Given the description of an element on the screen output the (x, y) to click on. 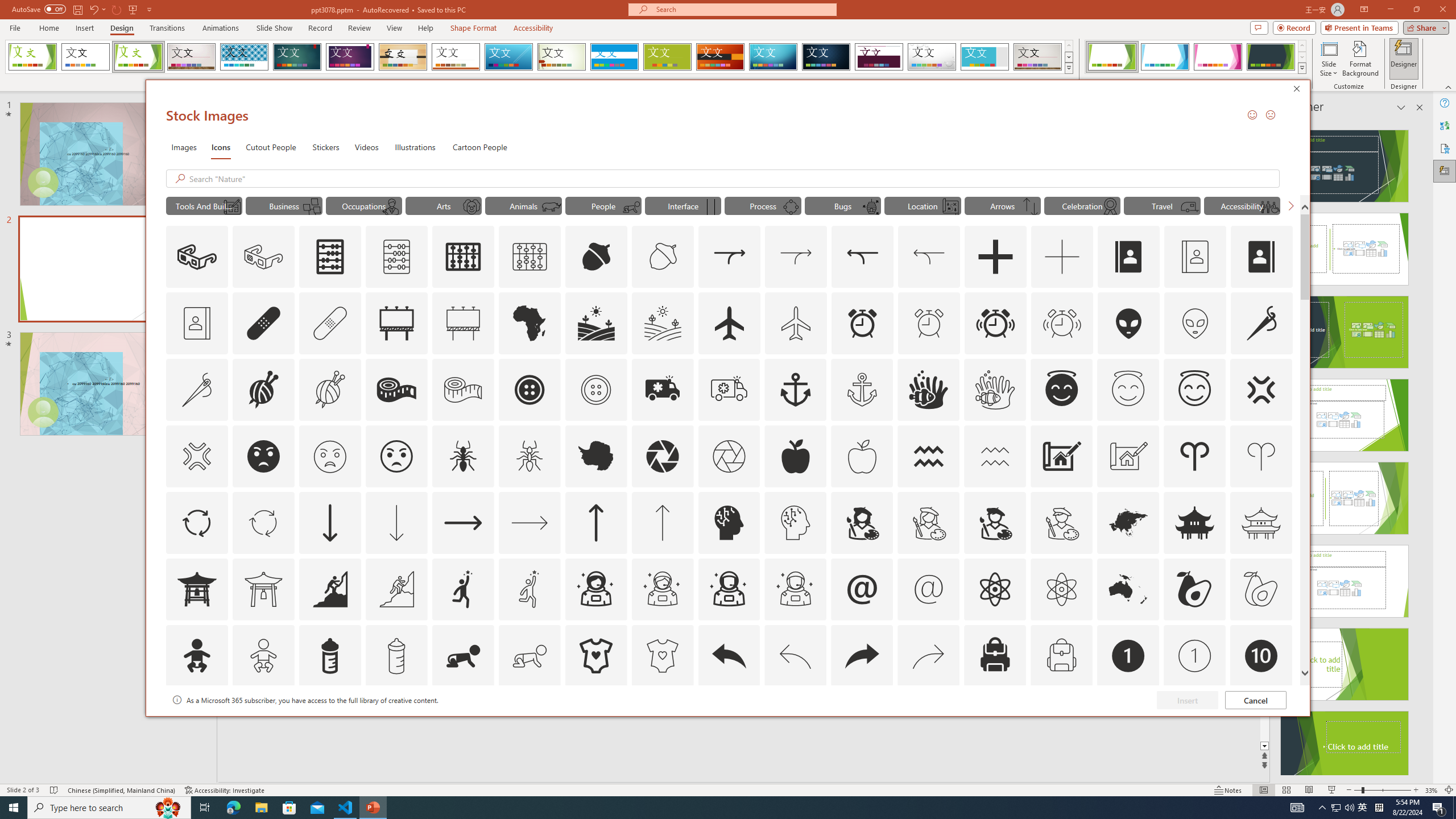
AutomationID: Icons_AlterationsTailoring_M (196, 389)
Basis (667, 56)
AutomationID: Icons_ArrowCircle_M (263, 522)
AutomationID: Icons_Acorn_M (663, 256)
